Given the description of an element on the screen output the (x, y) to click on. 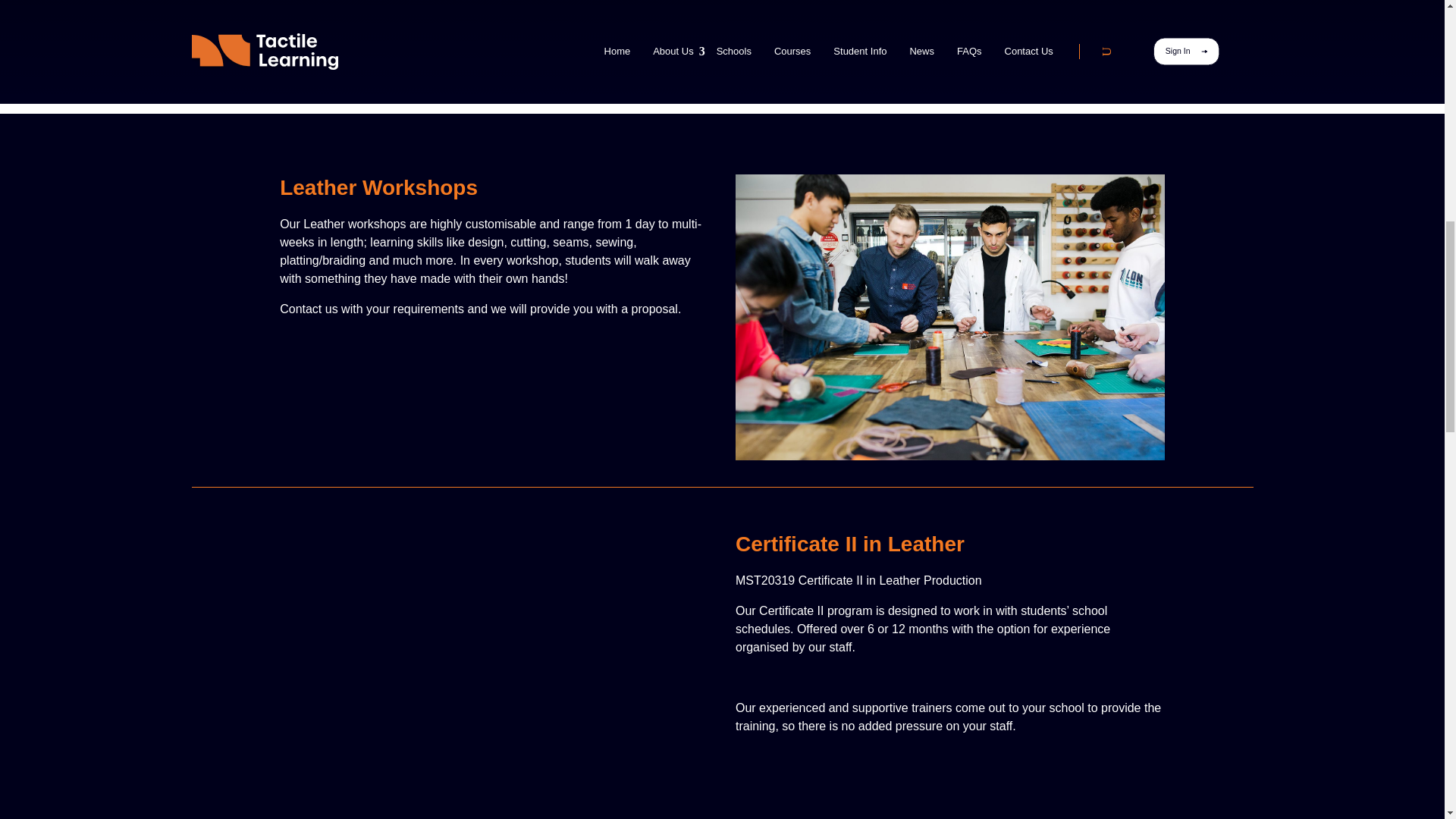
008tactile-learning-centre-photographer-brisbane-1Z5A7098 (448, 22)
TL - Leather-3 (949, 317)
